Given the description of an element on the screen output the (x, y) to click on. 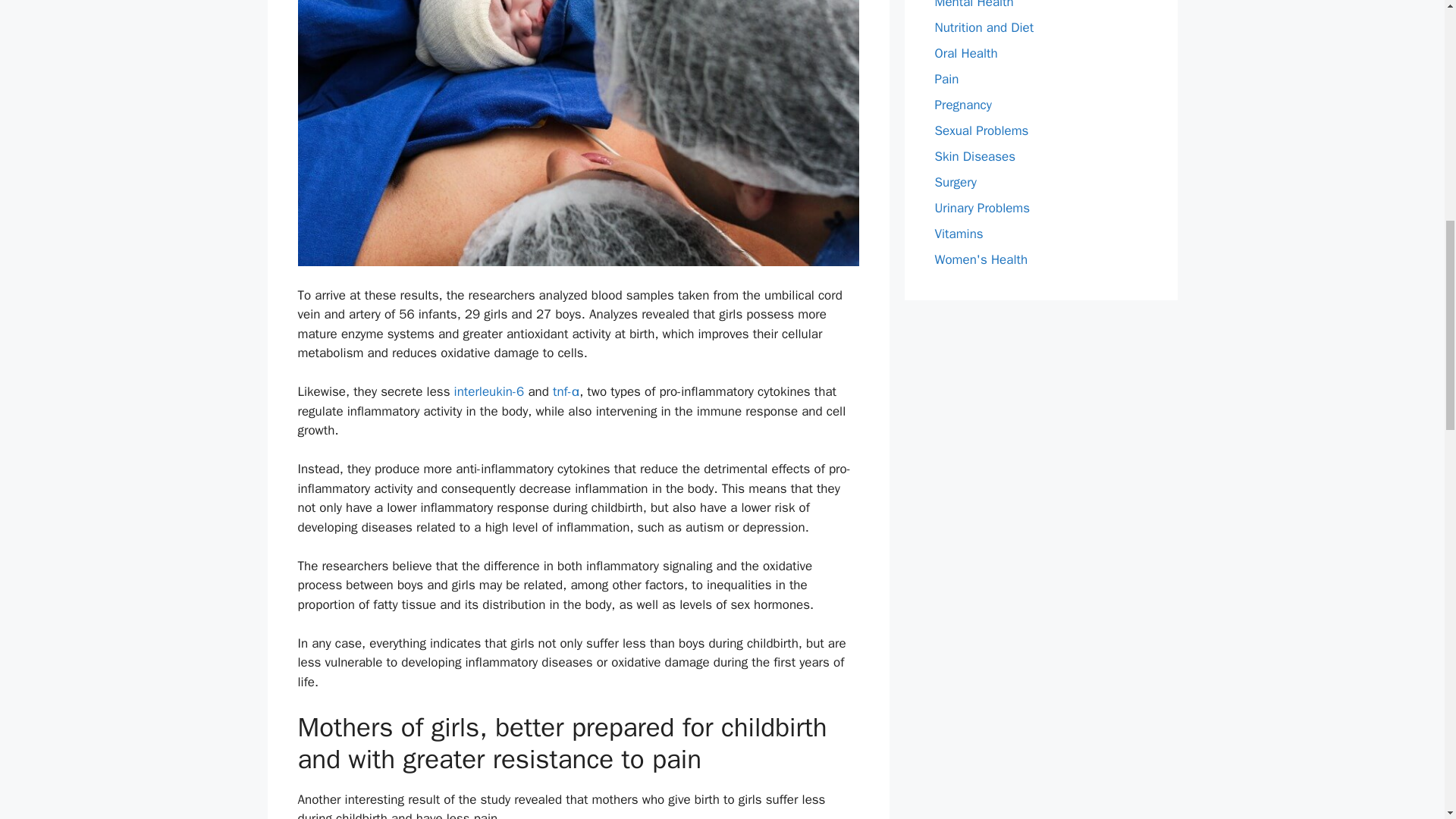
interleukin-6 (489, 391)
Scroll back to top (1406, 720)
